Given the description of an element on the screen output the (x, y) to click on. 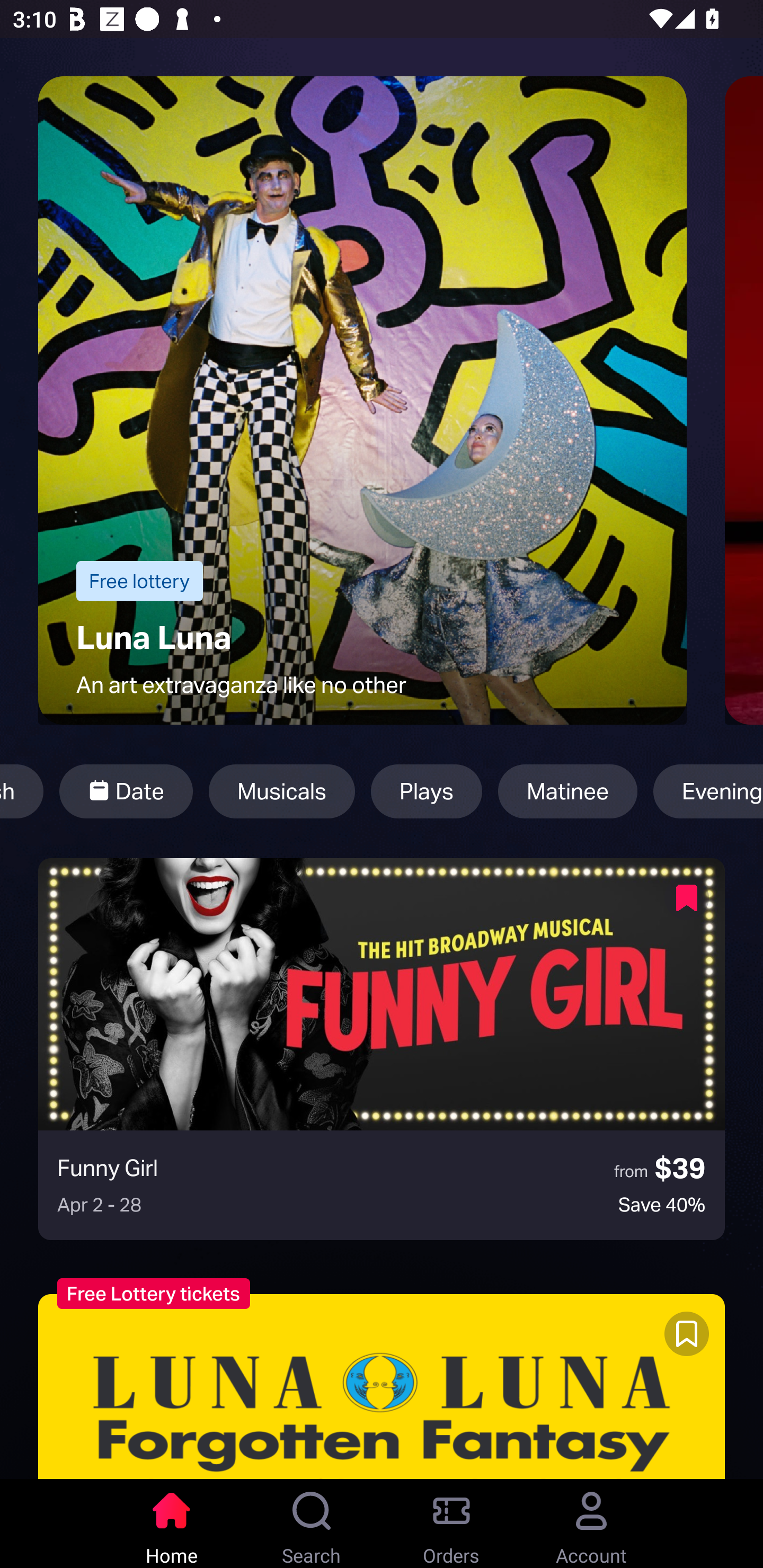
Date (126, 791)
Musicals (281, 791)
Plays (426, 791)
Matinee (567, 791)
Funny Girl from $39 Apr 2 - 28 Save 40% (381, 1048)
Search (311, 1523)
Orders (451, 1523)
Account (591, 1523)
